Given the description of an element on the screen output the (x, y) to click on. 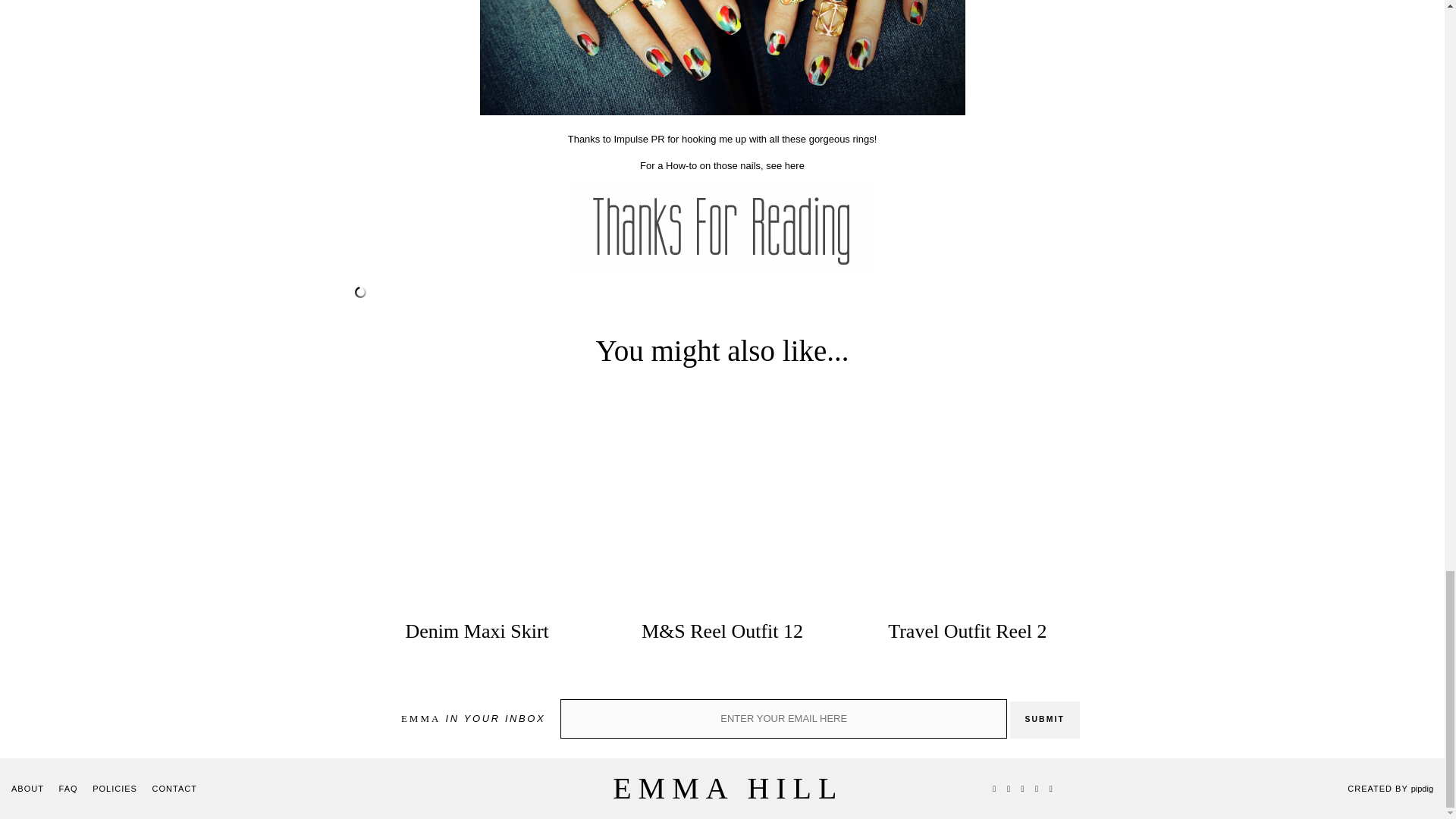
submit (1045, 719)
